Given the description of an element on the screen output the (x, y) to click on. 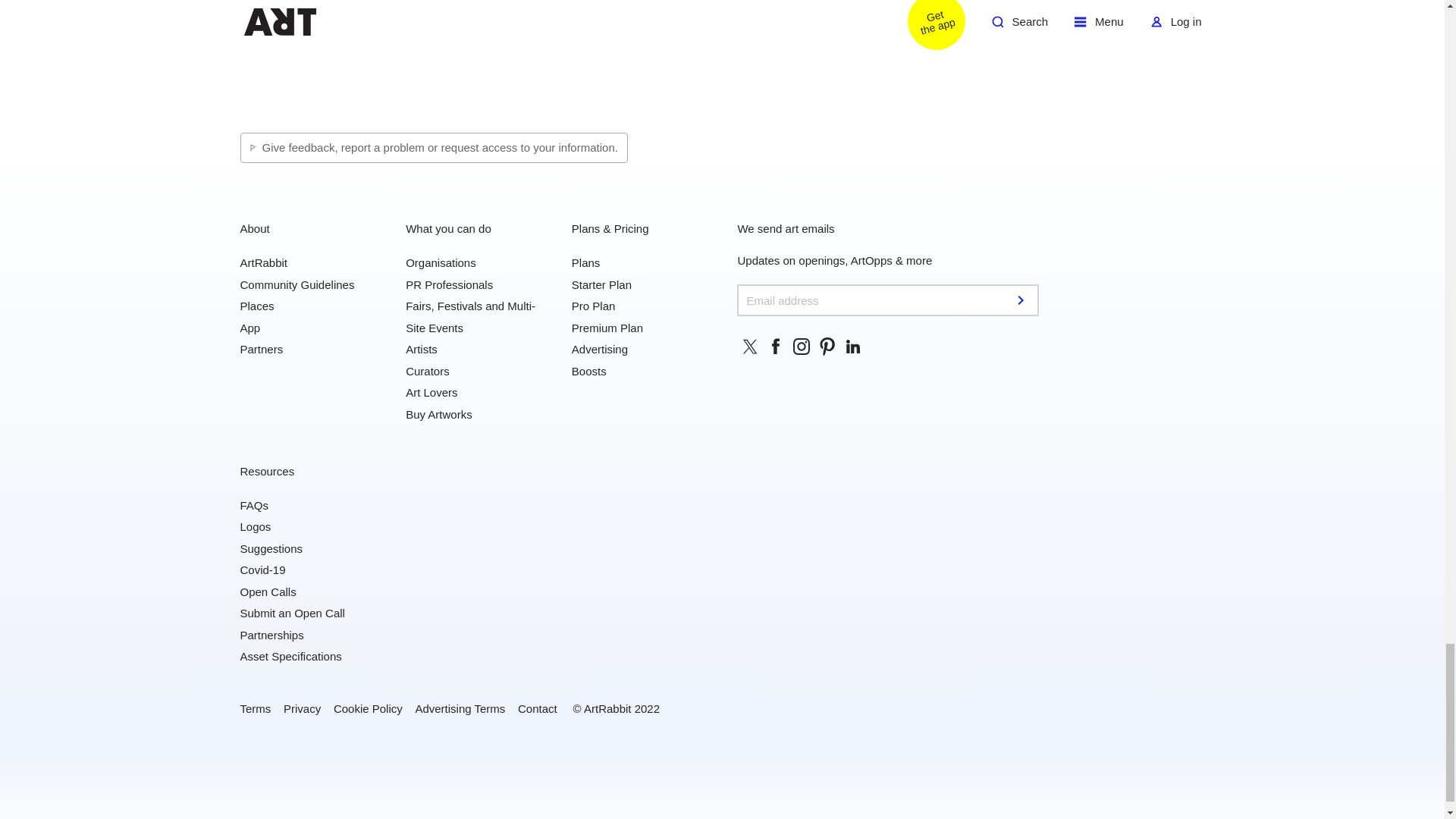
submit (1021, 299)
